Given the description of an element on the screen output the (x, y) to click on. 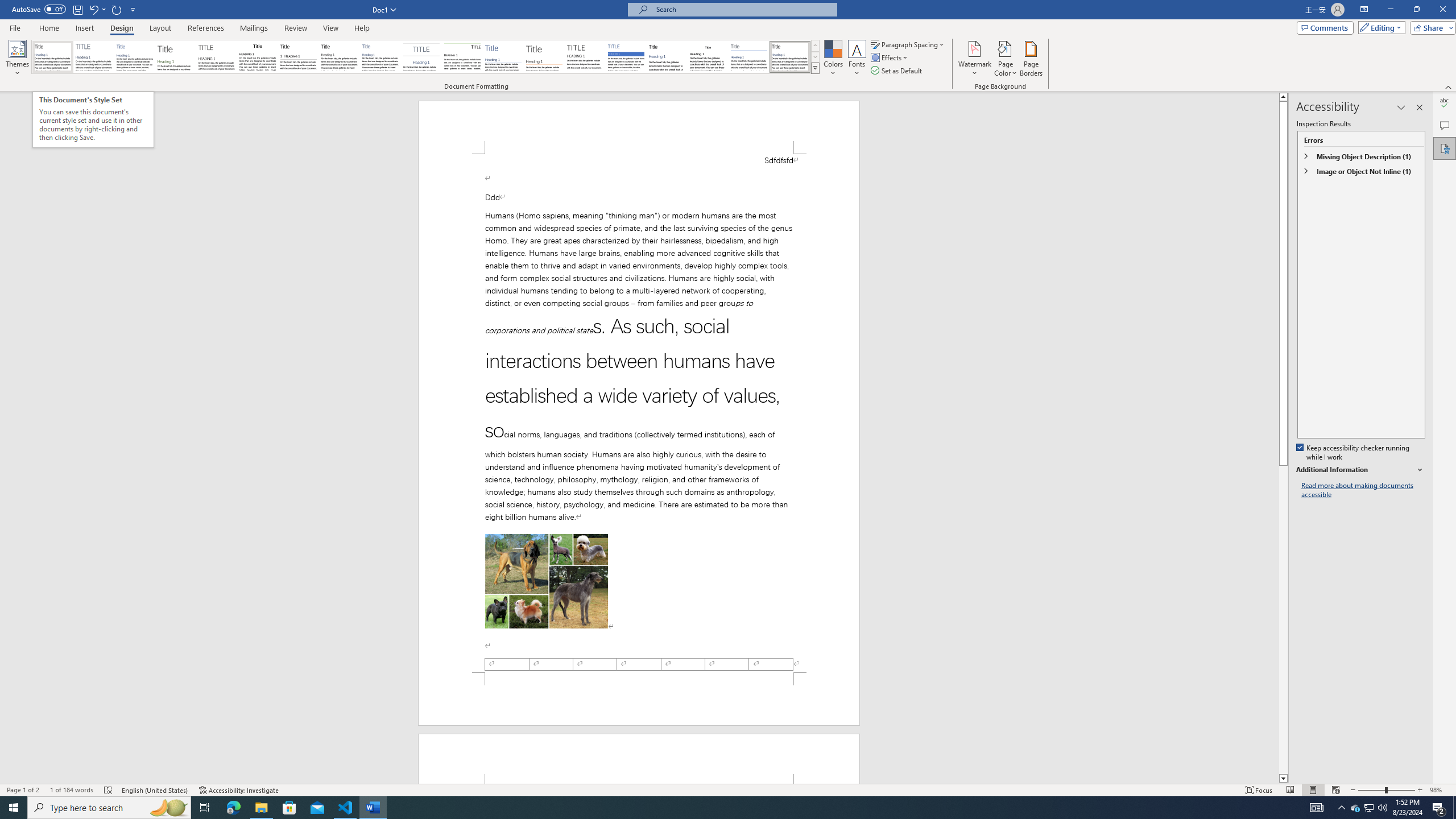
Lines (Simple) (503, 56)
Word 2013 (790, 56)
Style Set (814, 67)
Page 1 content (638, 412)
Colors (832, 58)
Page Borders... (1031, 58)
Centered (421, 56)
Word 2003 (707, 56)
Black & White (Capitalized) (216, 56)
